Given the description of an element on the screen output the (x, y) to click on. 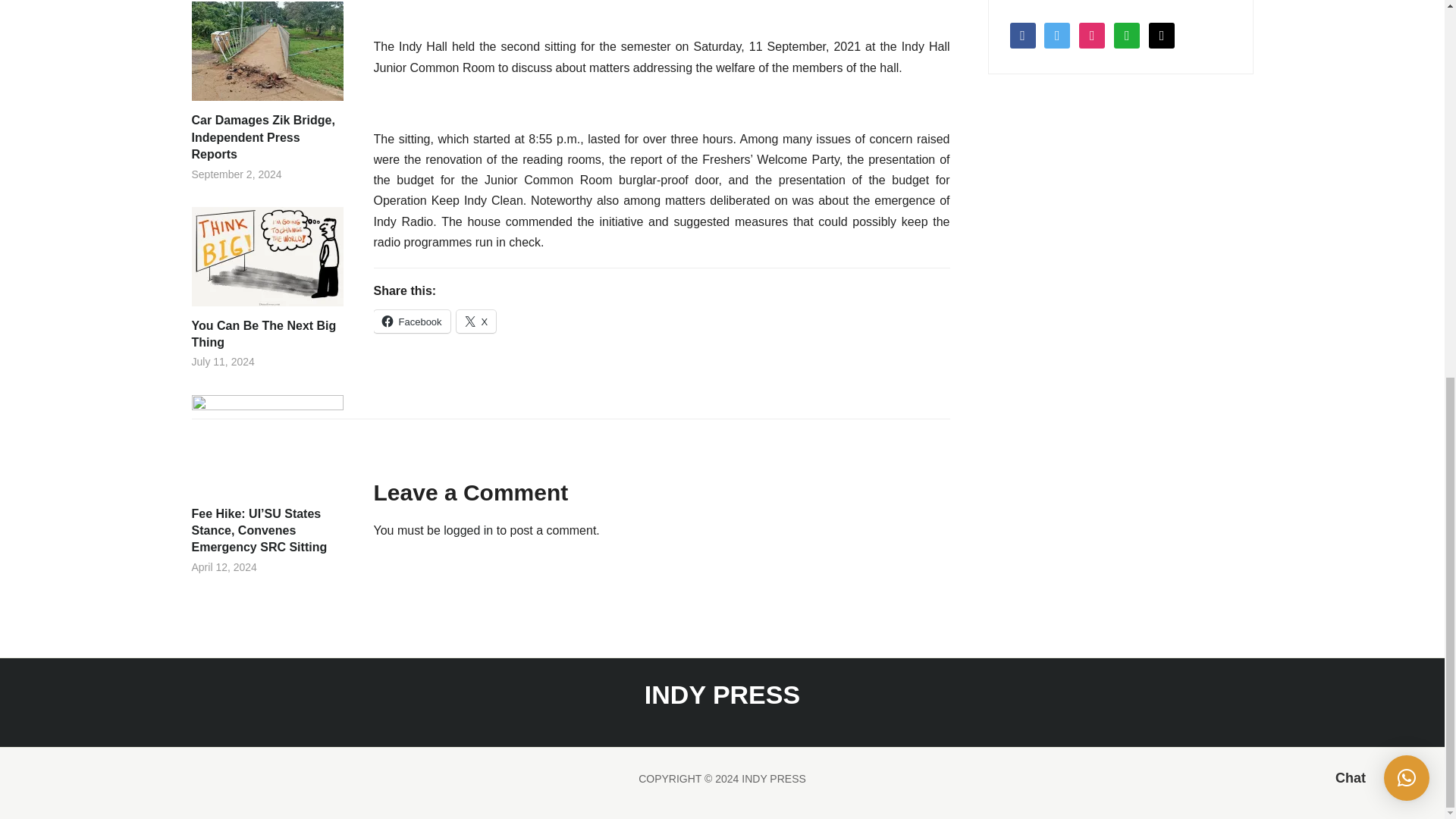
Permalink to You Can Be The Next Big Thing (266, 262)
Car Damages Zik Bridge, Independent Press Reports (266, 137)
Click to share on Facebook (410, 321)
Permalink to You Can Be The Next Big Thing (266, 334)
